Given the description of an element on the screen output the (x, y) to click on. 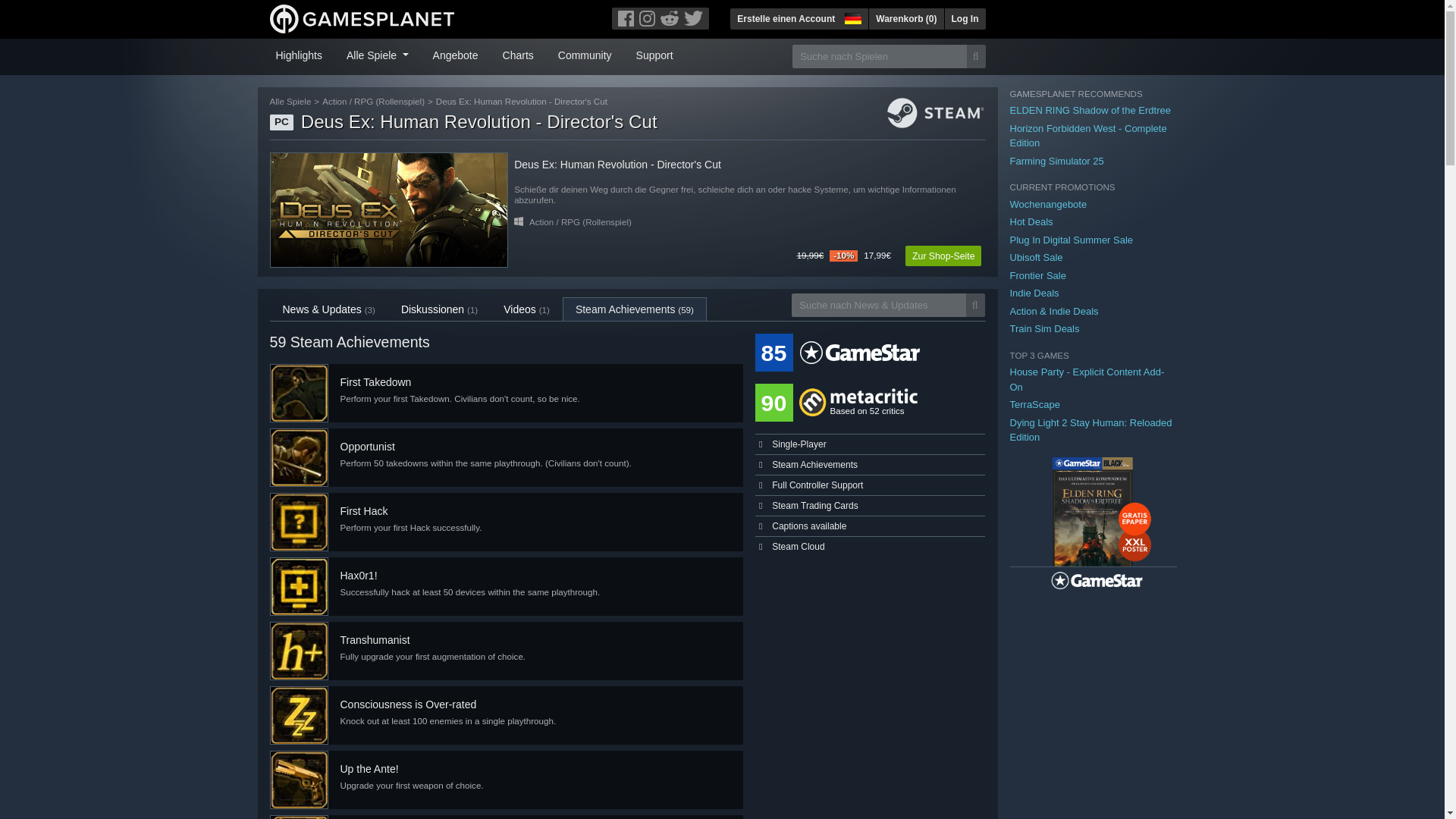
Alle Spiele (377, 53)
translation missing: de.community.tabs.videos (519, 309)
Deus Ex: Human Revolution - Director's Cut (388, 209)
Log In (964, 18)
Highlights (299, 53)
Erstelle einen Account (785, 18)
